Given the description of an element on the screen output the (x, y) to click on. 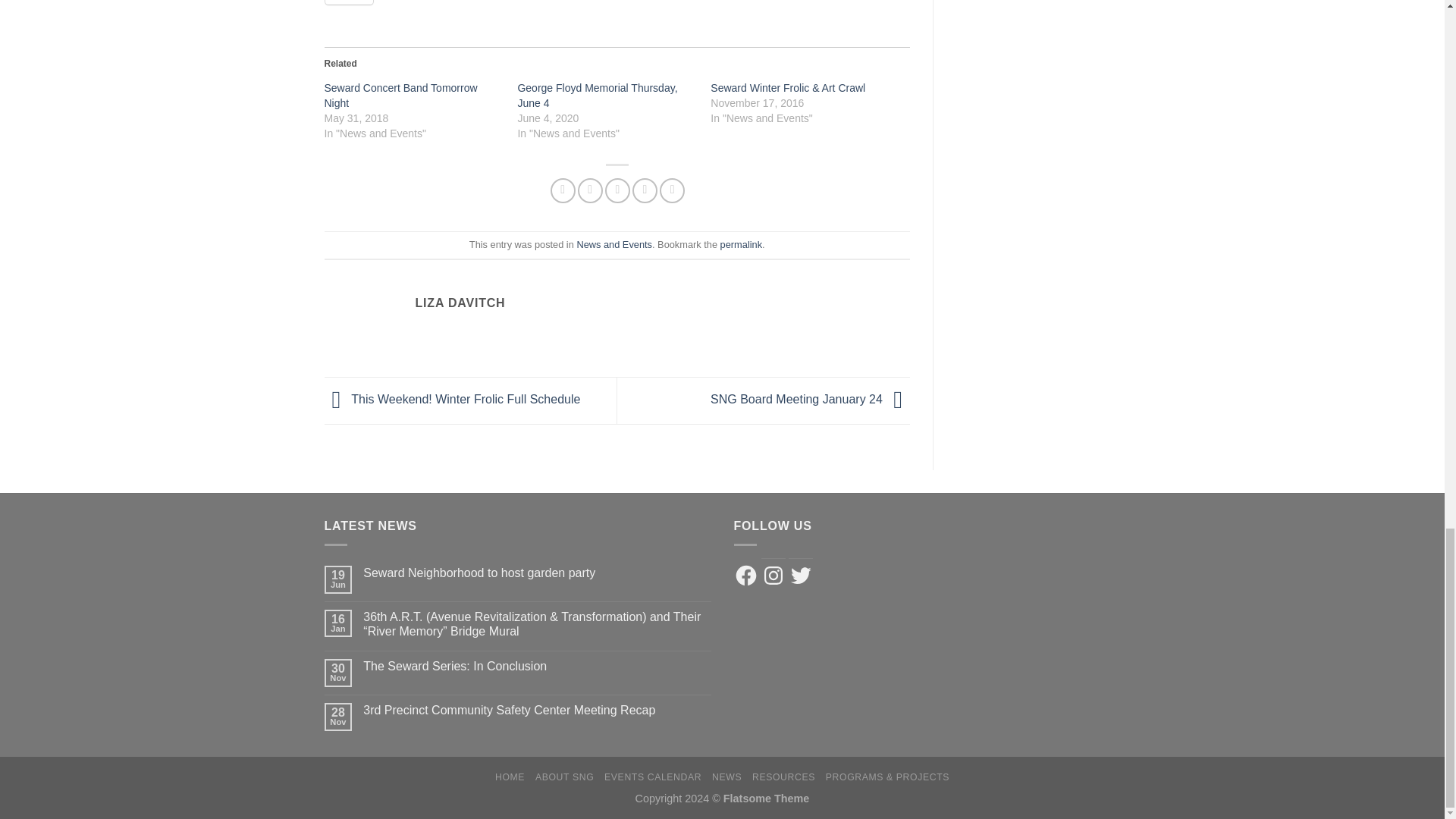
Like or Reblog (617, 11)
Share on Facebook (562, 190)
Seward Concert Band Tomorrow Night (400, 94)
George Floyd Memorial Thursday, June 4 (596, 94)
George Floyd Memorial Thursday, June 4 (596, 94)
Seward Concert Band Tomorrow Night (400, 94)
